Given the description of an element on the screen output the (x, y) to click on. 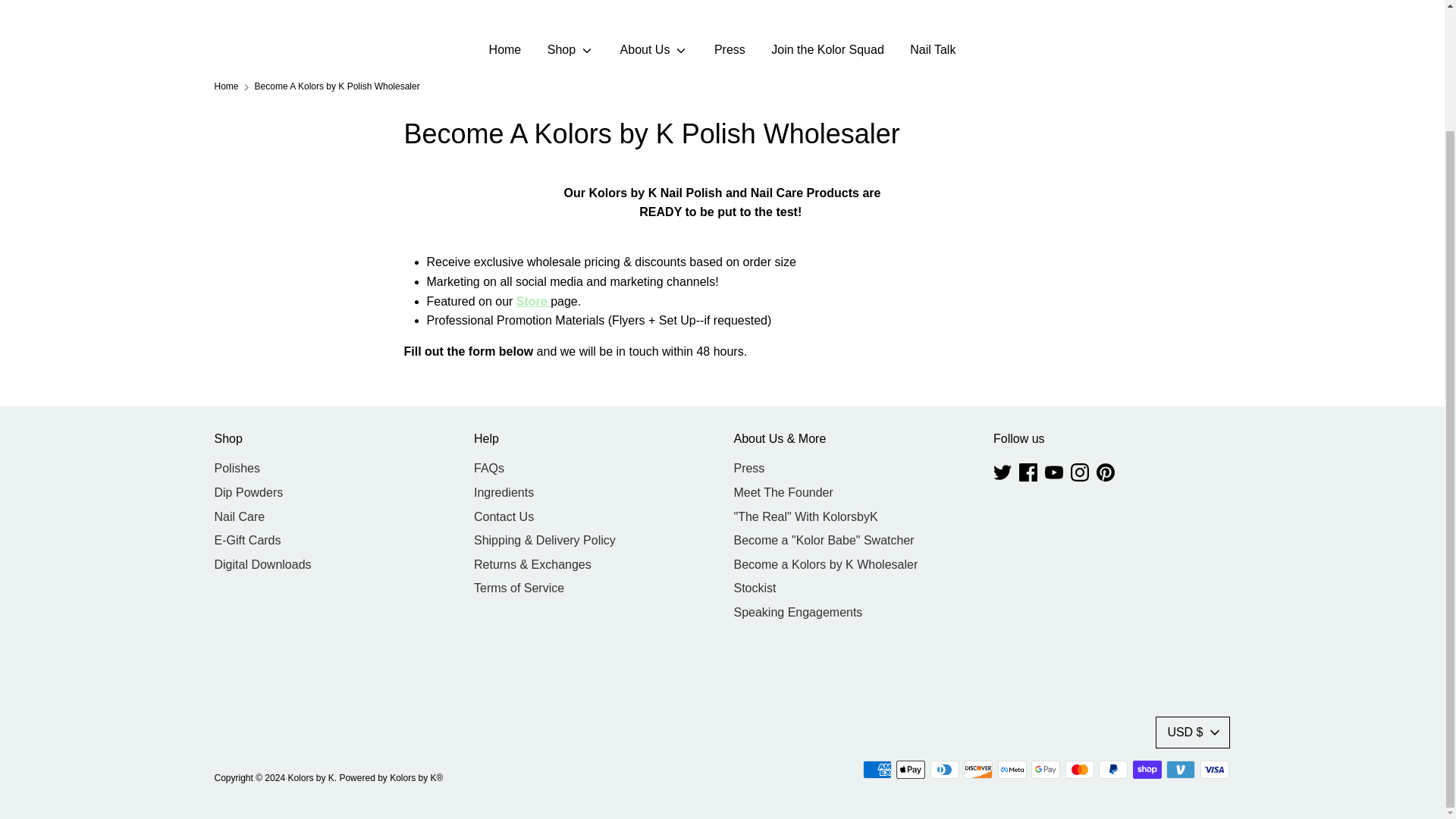
Meta Pay (1011, 769)
Diners Club (944, 769)
American Express (877, 769)
Mastercard (1079, 769)
Google Pay (1044, 769)
Discover (977, 769)
Apple Pay (910, 769)
